Given the description of an element on the screen output the (x, y) to click on. 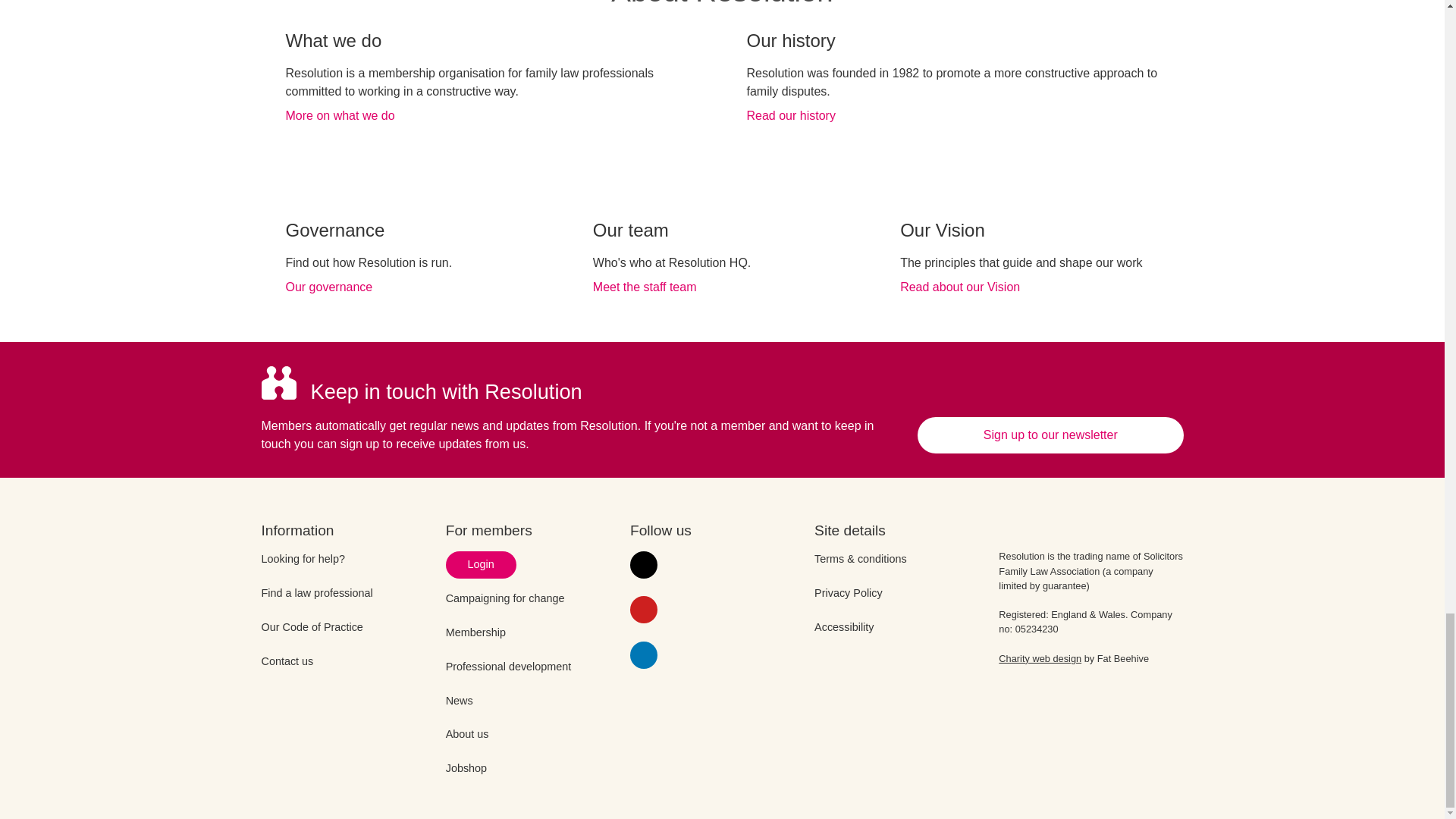
Linkedin (644, 655)
Twitter (644, 564)
Youtube (644, 609)
